Given the description of an element on the screen output the (x, y) to click on. 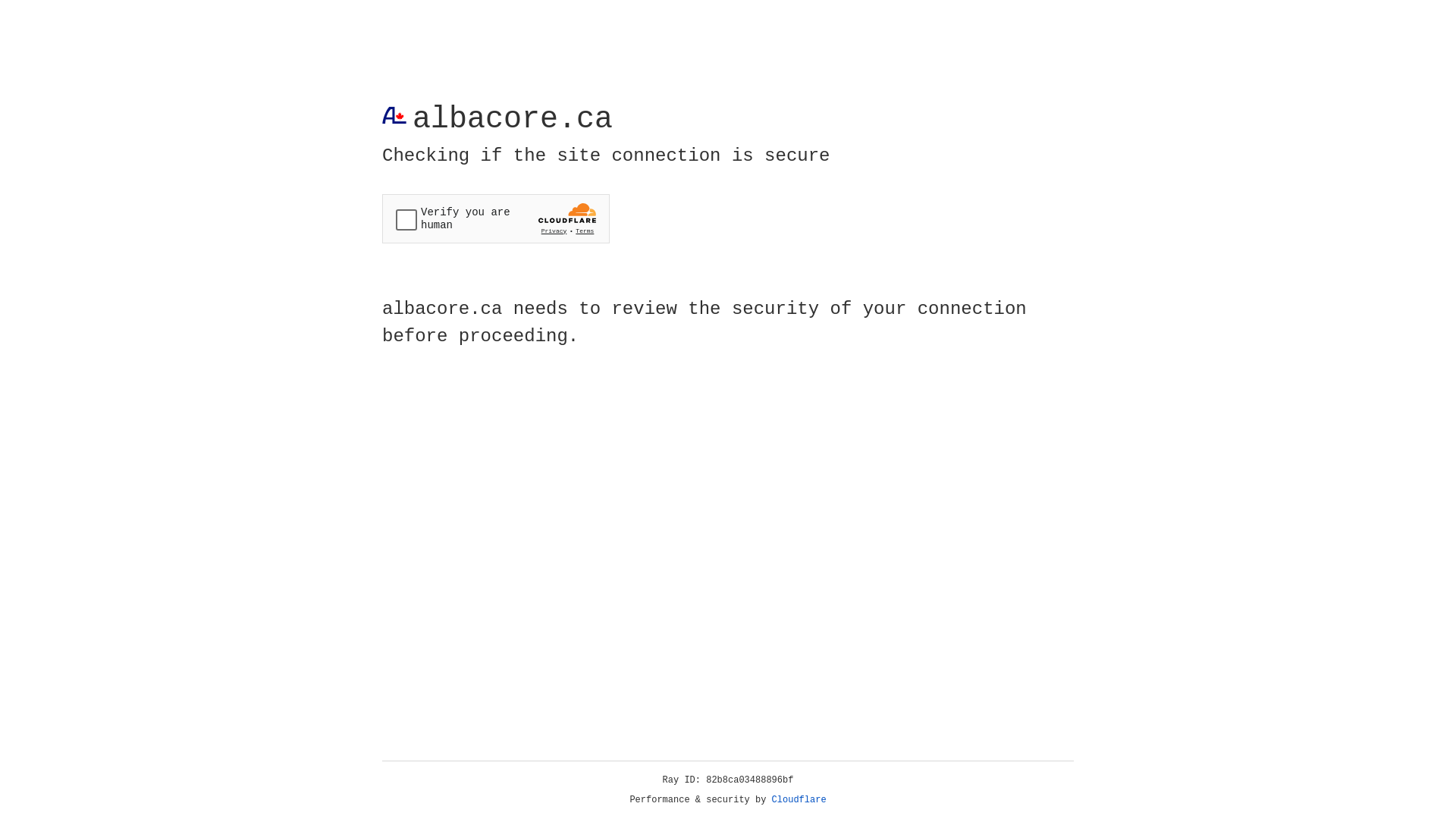
Cloudflare Element type: text (798, 799)
Widget containing a Cloudflare security challenge Element type: hover (495, 218)
